Given the description of an element on the screen output the (x, y) to click on. 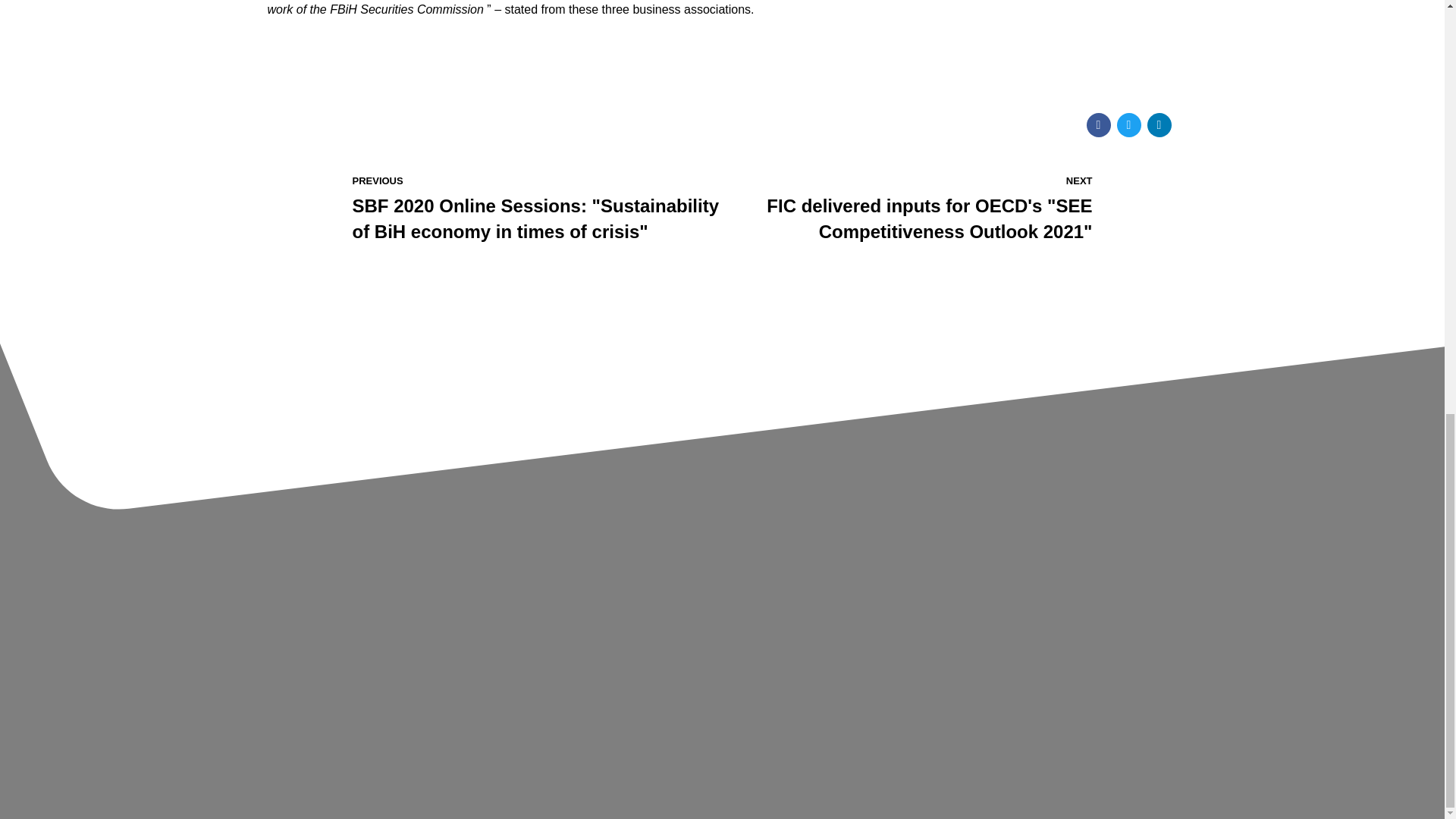
Share on Linkedin (1158, 125)
Share on Facebook (1097, 125)
Share on Twitter (1128, 125)
